Given the description of an element on the screen output the (x, y) to click on. 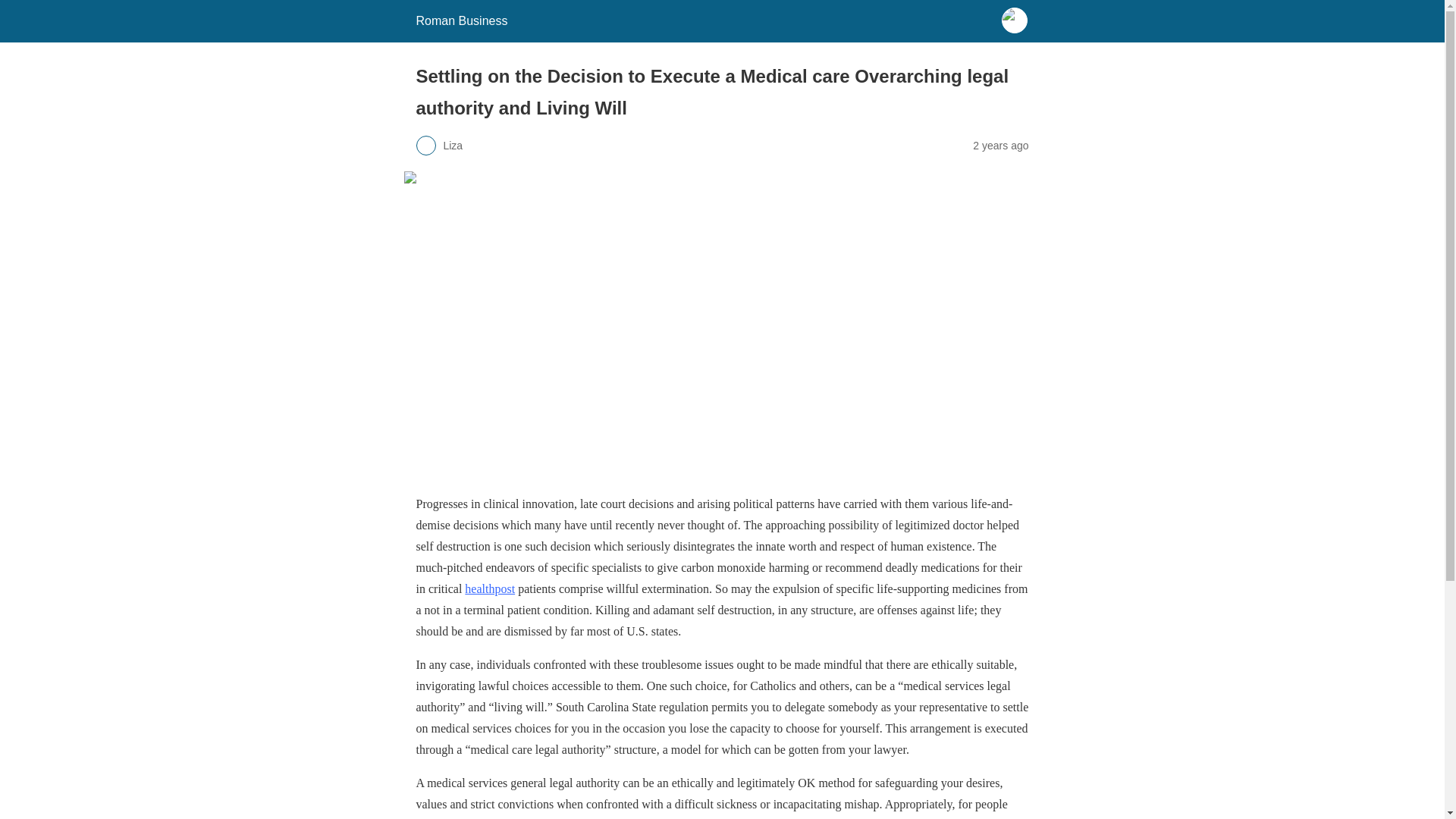
healthpost (489, 588)
Roman Business (460, 20)
